Given the description of an element on the screen output the (x, y) to click on. 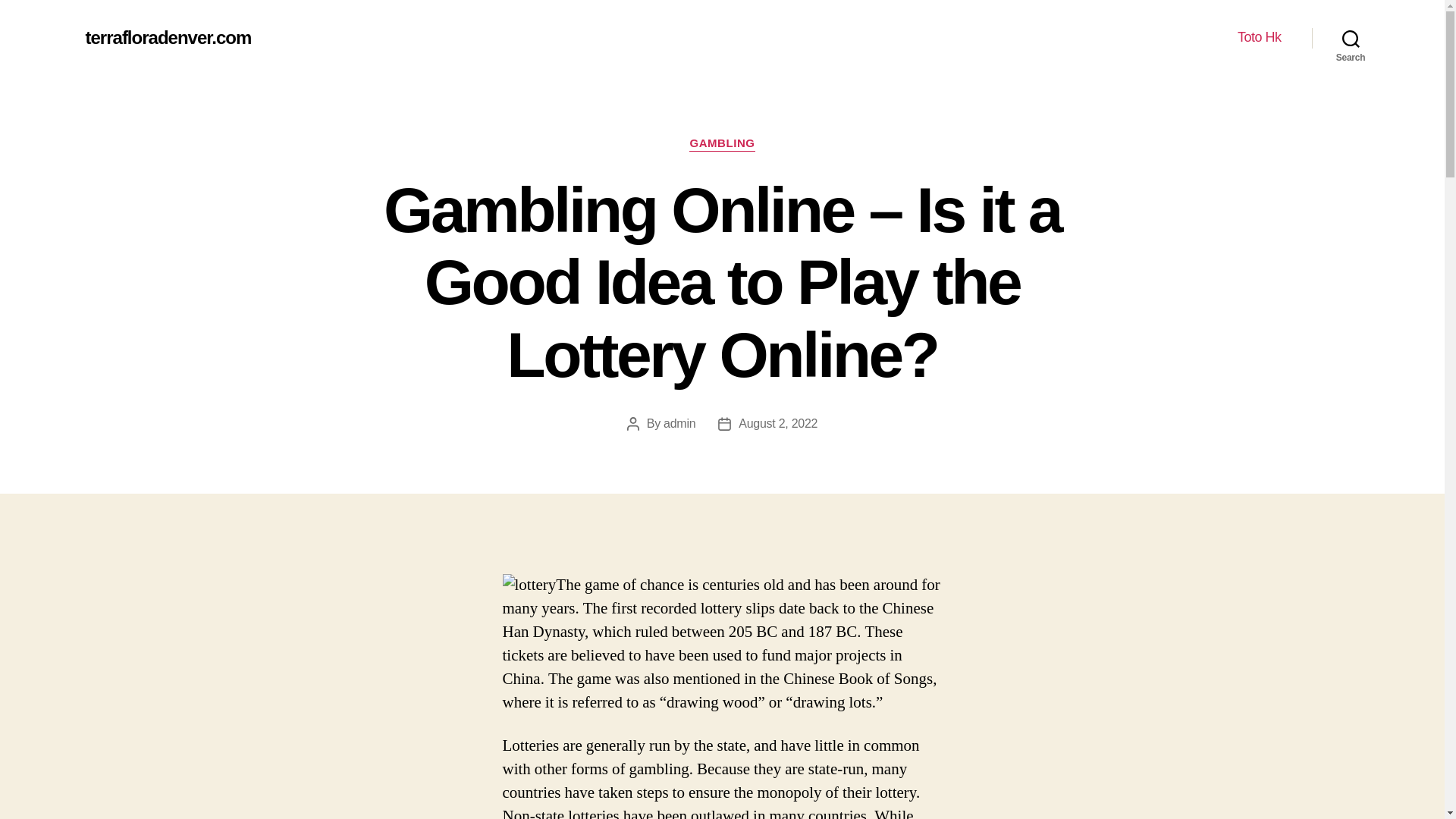
admin (679, 422)
August 2, 2022 (777, 422)
GAMBLING (721, 143)
terrafloradenver.com (167, 37)
Search (1350, 37)
Toto Hk (1259, 37)
